Given the description of an element on the screen output the (x, y) to click on. 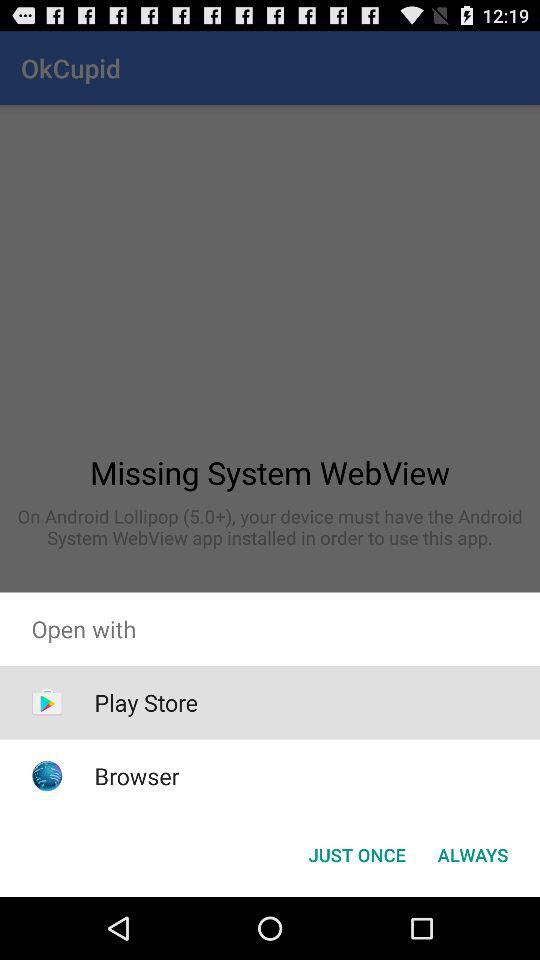
press the item below open with app (146, 702)
